Given the description of an element on the screen output the (x, y) to click on. 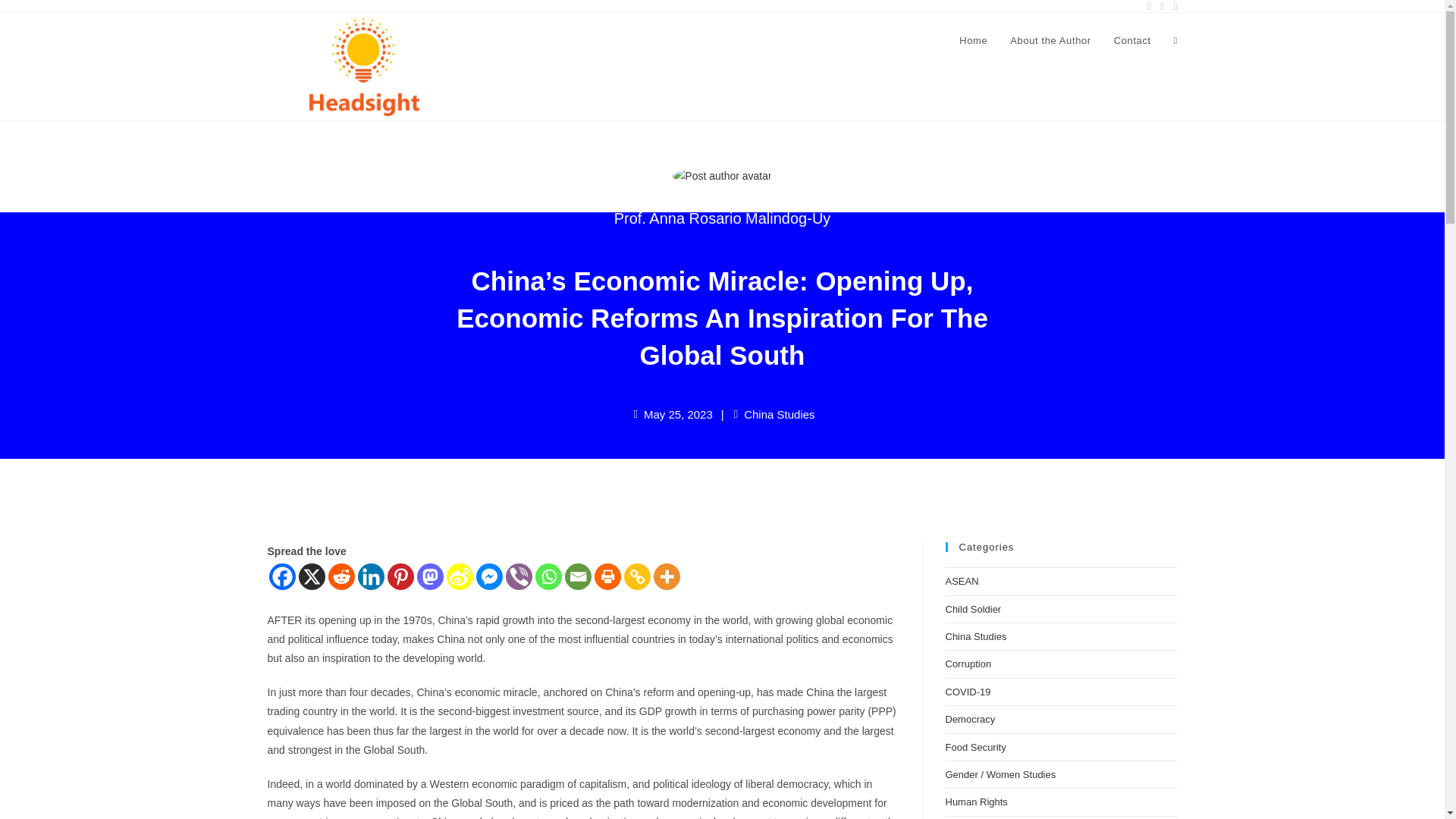
Reddit (340, 576)
Pinterest (400, 576)
X (311, 576)
About the Author (1050, 40)
Mastodon (430, 576)
Prof. Anna Rosario Malindog-Uy (722, 217)
Linkedin (371, 576)
Facebook (281, 576)
Copy Link (636, 576)
Sina Weibo (458, 576)
